Given the description of an element on the screen output the (x, y) to click on. 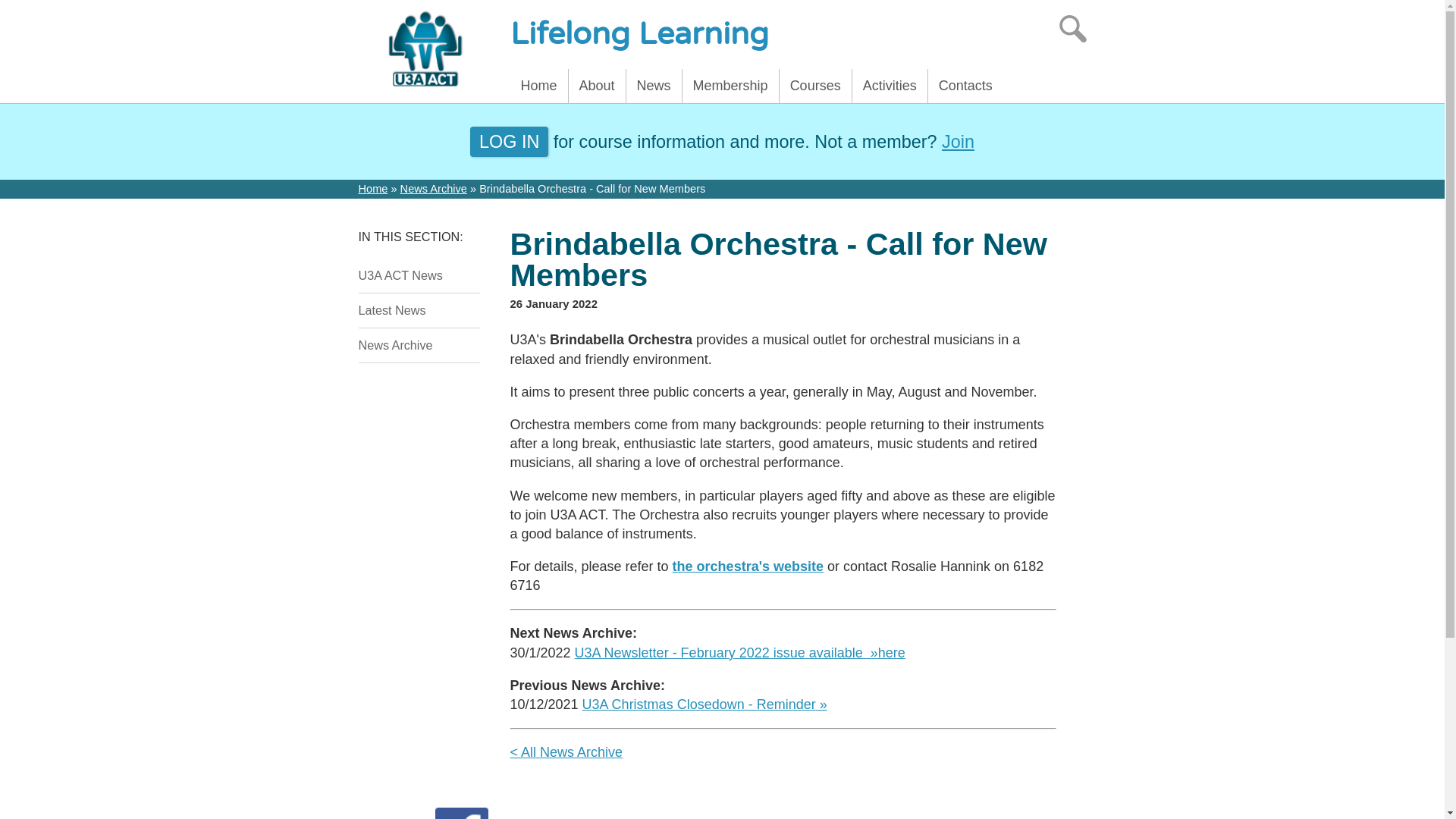
here Element type: text (891, 652)
Latest News Element type: text (418, 310)
U3A Newsletter - February 2022 issue available Element type: text (726, 652)
Contacts Element type: text (965, 86)
Membership Element type: text (730, 86)
Home Element type: text (372, 188)
Activities Element type: text (889, 86)
U3A Christmas Closedown - Reminder Element type: text (704, 704)
the orchestra's website Element type: text (747, 566)
Home Element type: text (538, 86)
News Archive Element type: text (433, 188)
U3A ACT News Element type: text (418, 275)
News Element type: text (654, 86)
< All News Archive Element type: text (565, 751)
News Archive Element type: text (418, 345)
Courses Element type: text (815, 86)
LOG IN Element type: text (509, 141)
About Element type: text (597, 86)
Join Element type: text (957, 141)
